Given the description of an element on the screen output the (x, y) to click on. 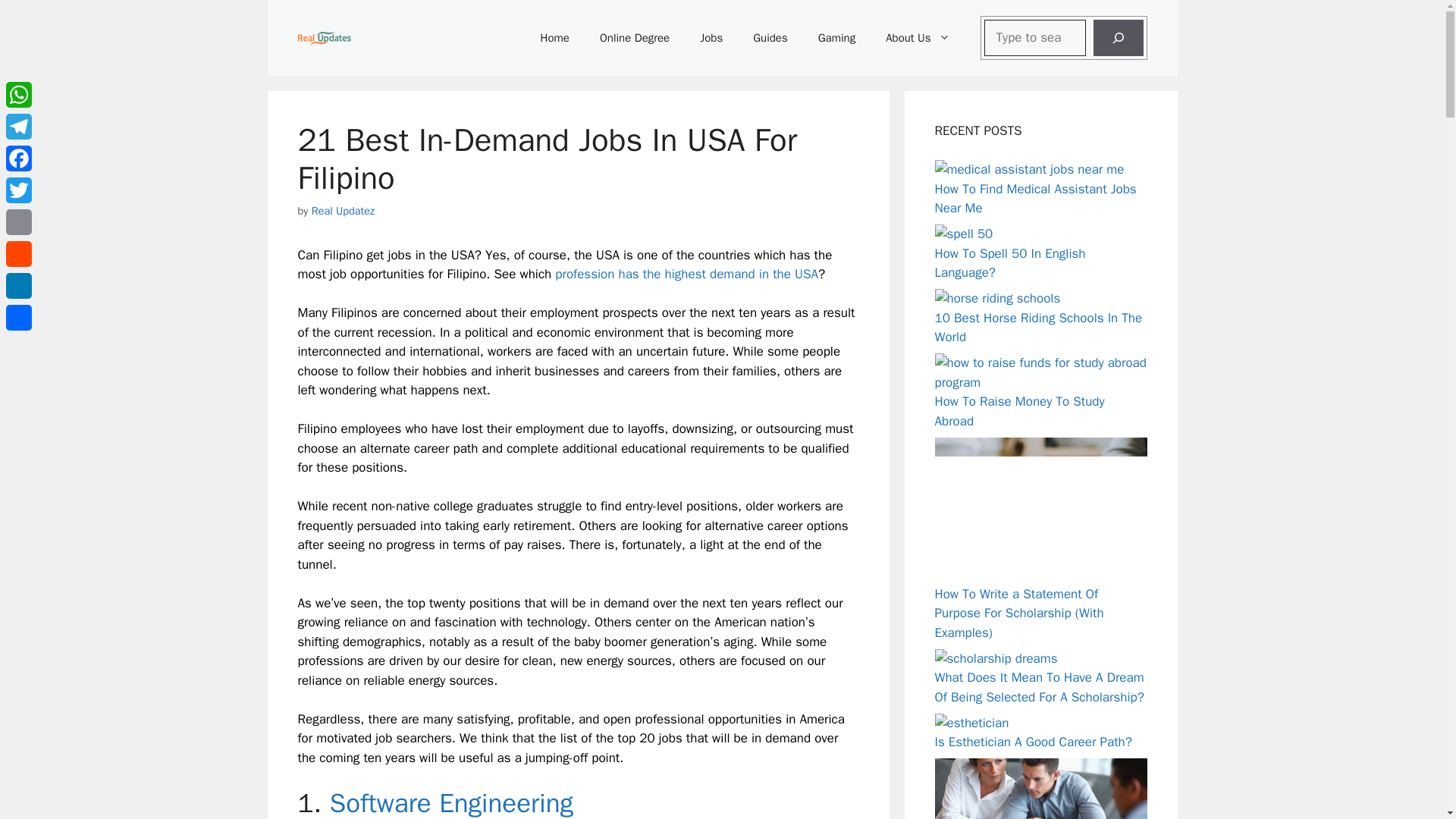
Home (555, 37)
Gaming (836, 37)
Online Degree (634, 37)
Guides (770, 37)
Real Updatez (342, 210)
About Us (916, 37)
profession has the highest demand in the USA (686, 273)
Software Engineering (451, 802)
View all posts by Real Updatez (342, 210)
Jobs (711, 37)
